Given the description of an element on the screen output the (x, y) to click on. 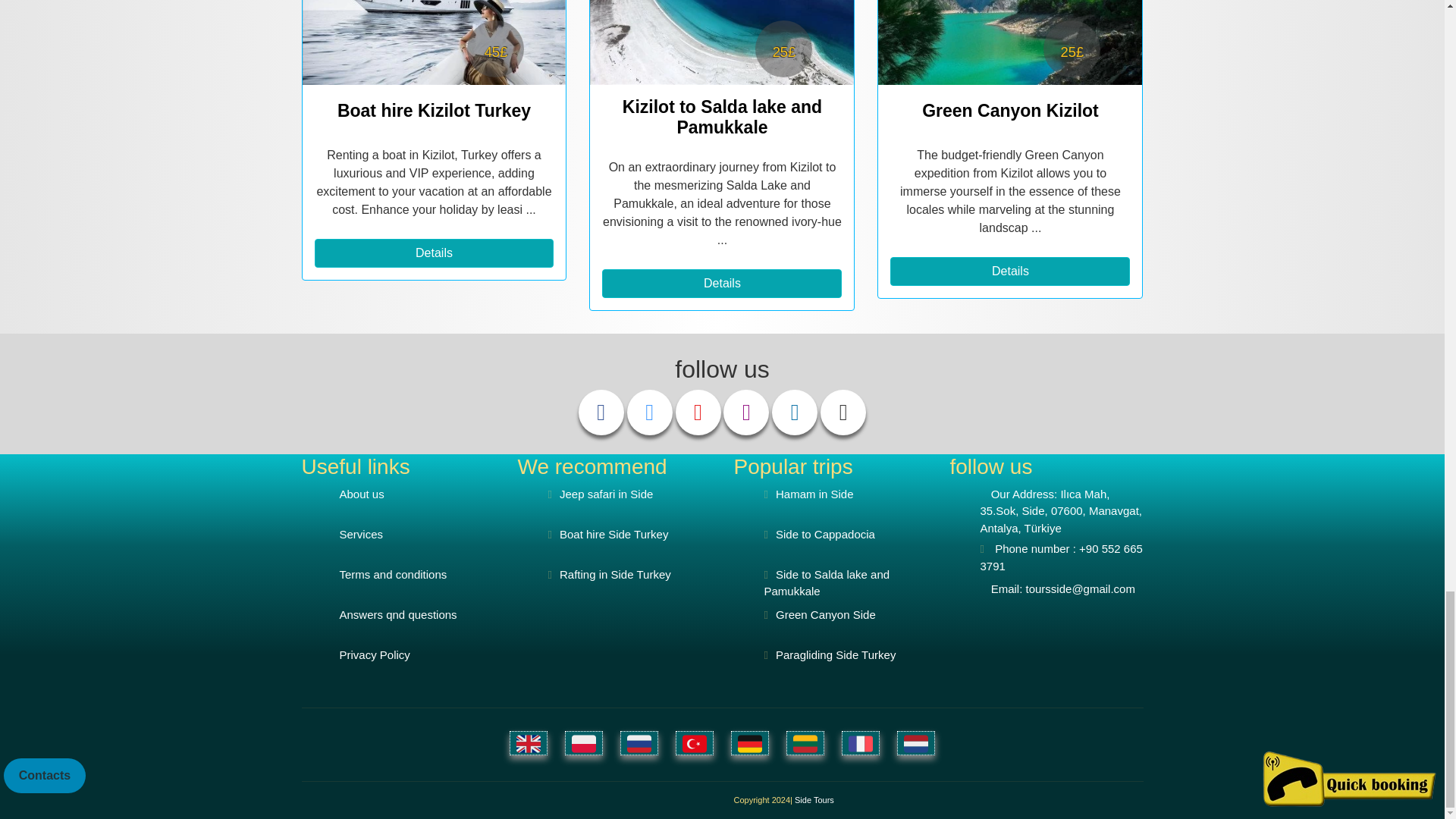
Boat hire Kizilot Turkey (433, 42)
